Given the description of an element on the screen output the (x, y) to click on. 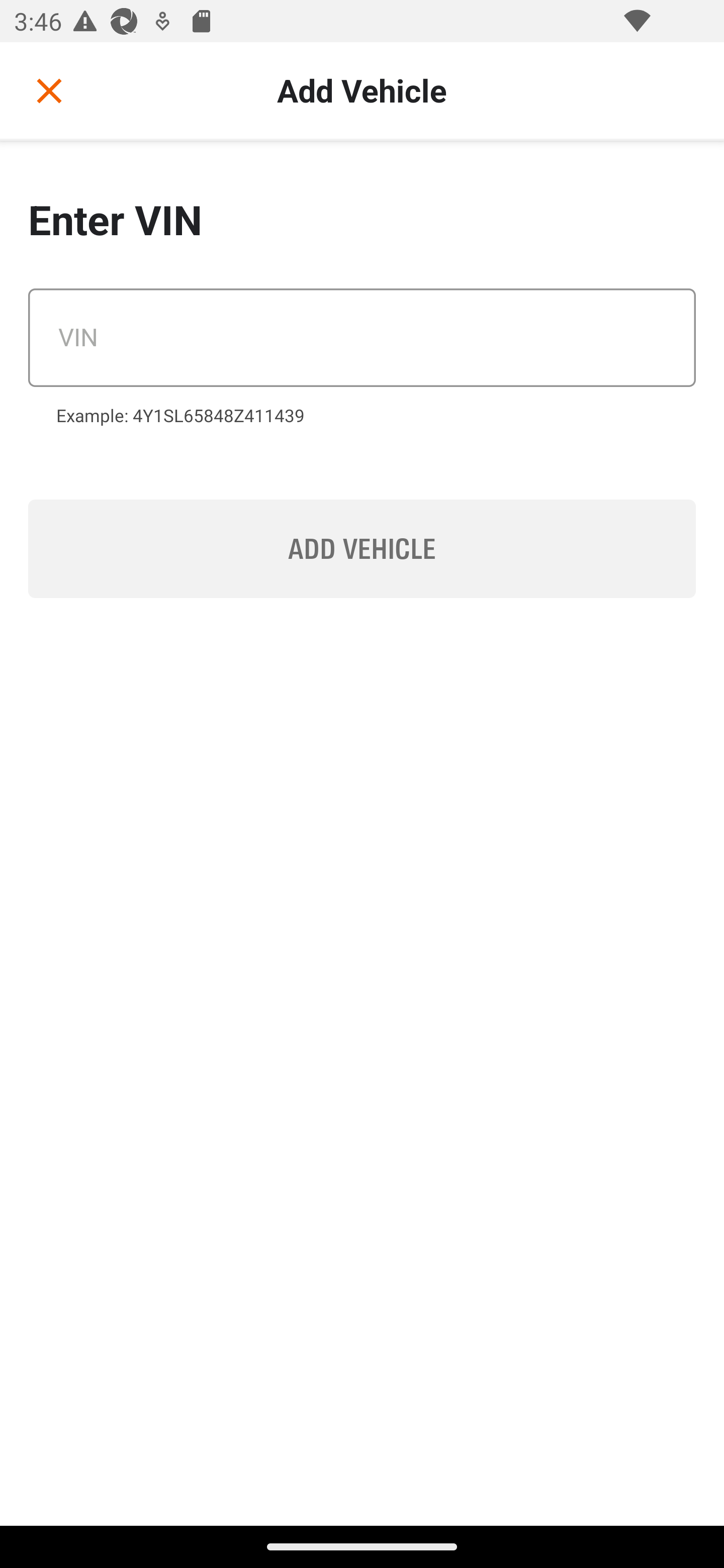
Go back  (49, 89)
vin VIN (361, 337)
ADD VEHICLE (361, 548)
